Given the description of an element on the screen output the (x, y) to click on. 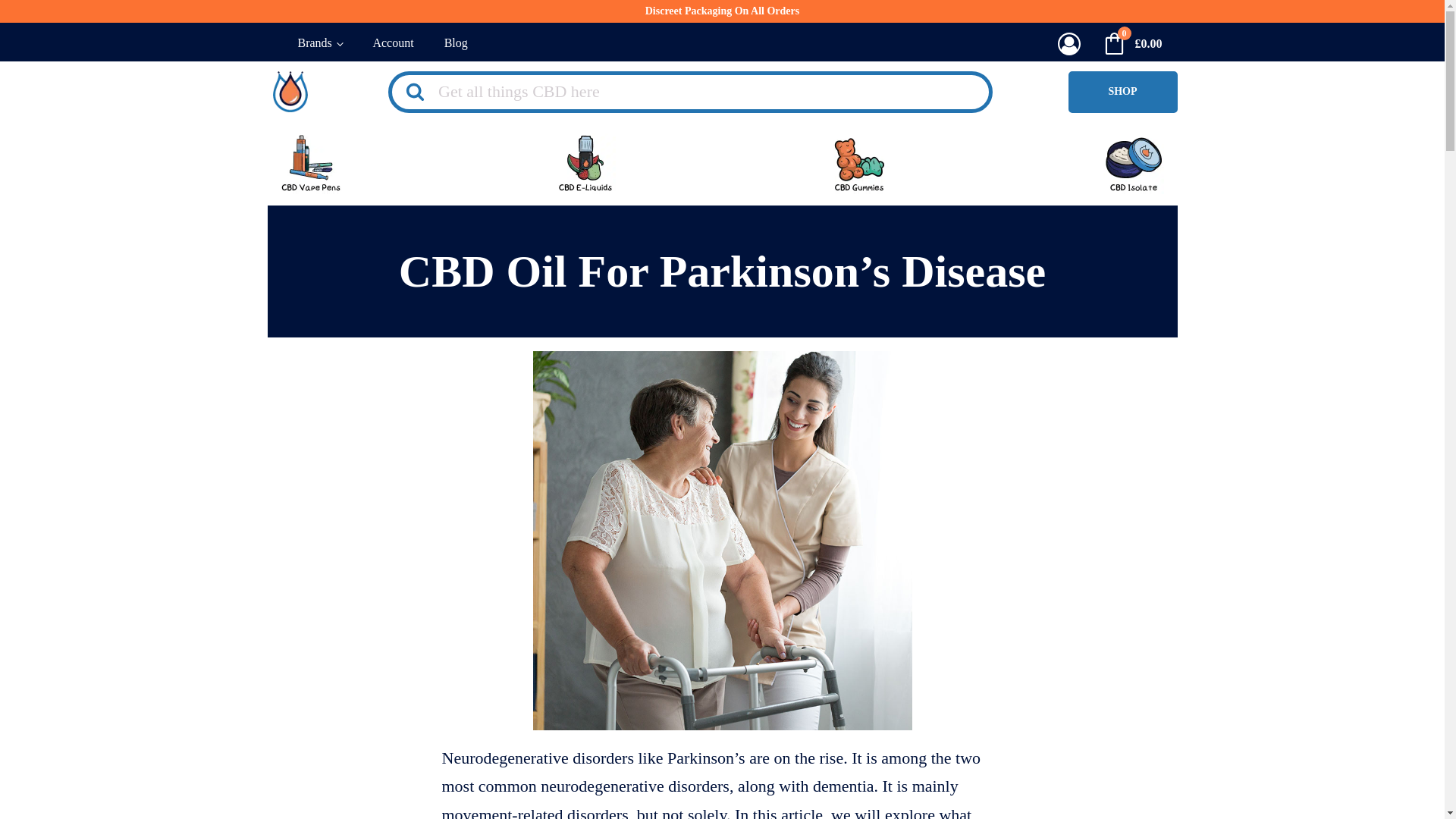
Search (40, 18)
SHOP (1121, 92)
Account (392, 43)
Blog (456, 43)
Brands (319, 43)
